Given the description of an element on the screen output the (x, y) to click on. 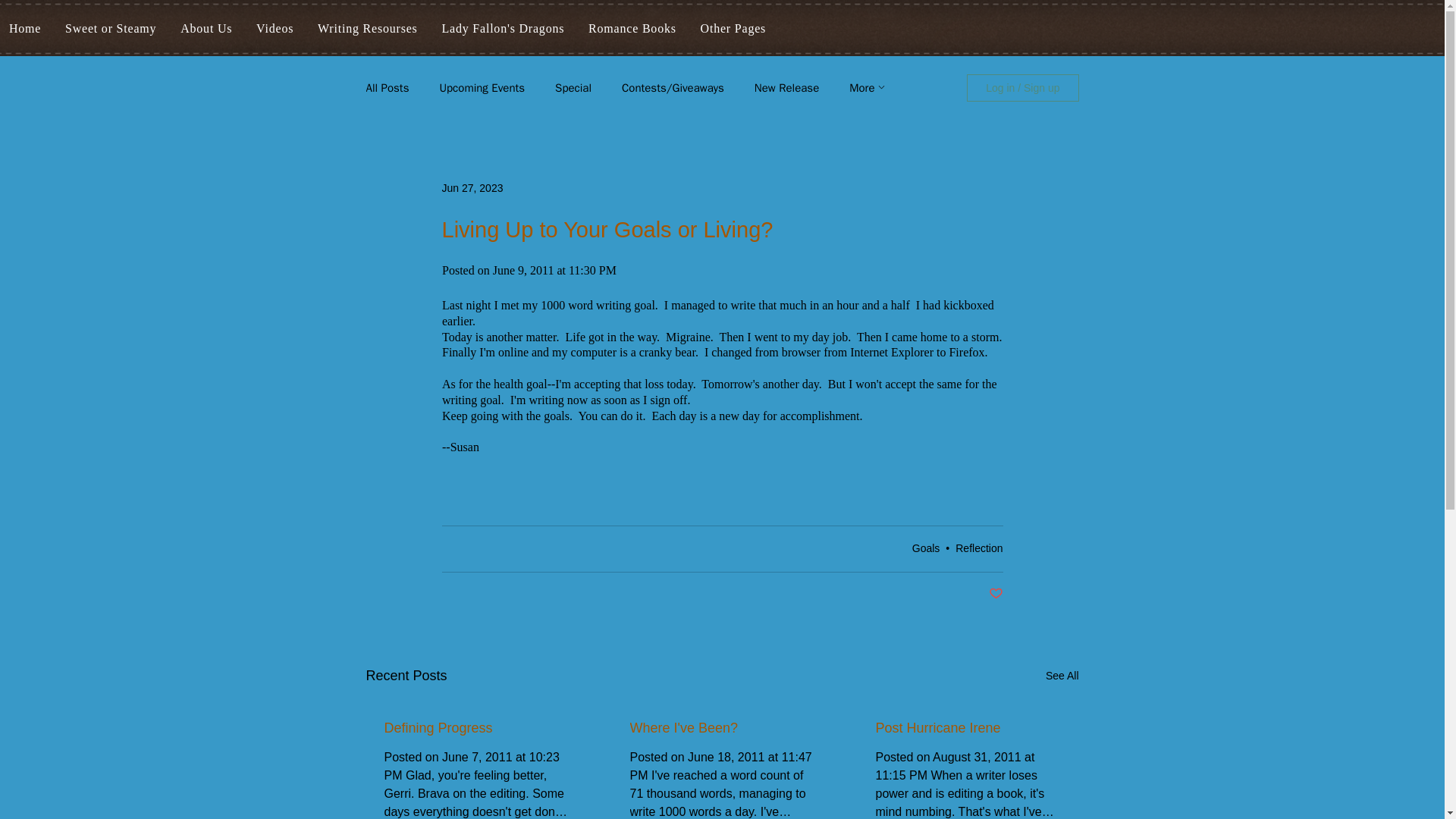
Romance Books (632, 28)
Special (572, 87)
Jun 27, 2023 (471, 187)
Lady Fallon's Dragons (502, 28)
Other Pages (732, 28)
Upcoming Events (481, 87)
All Posts (387, 87)
About Us (206, 28)
Writing Resourses (367, 28)
Home (24, 28)
